Given the description of an element on the screen output the (x, y) to click on. 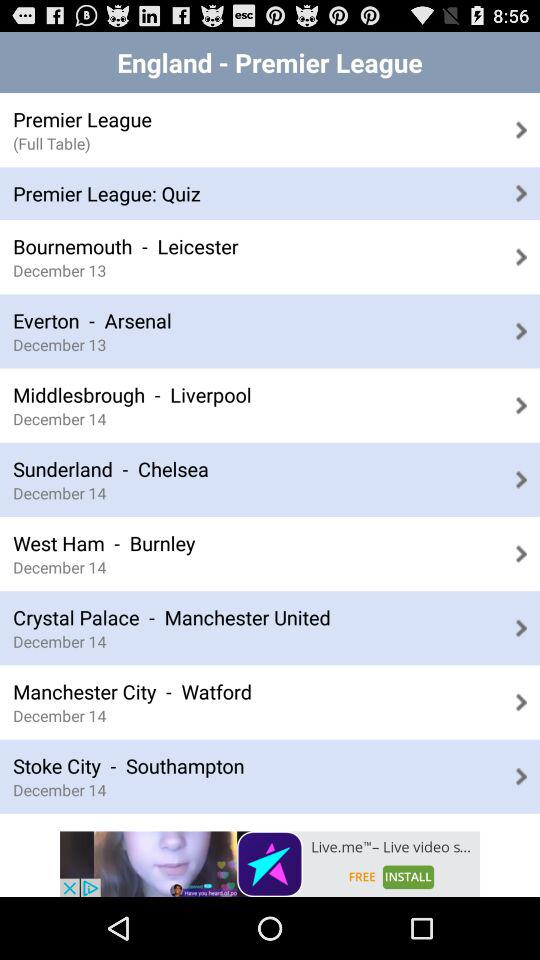
install (270, 864)
